Given the description of an element on the screen output the (x, y) to click on. 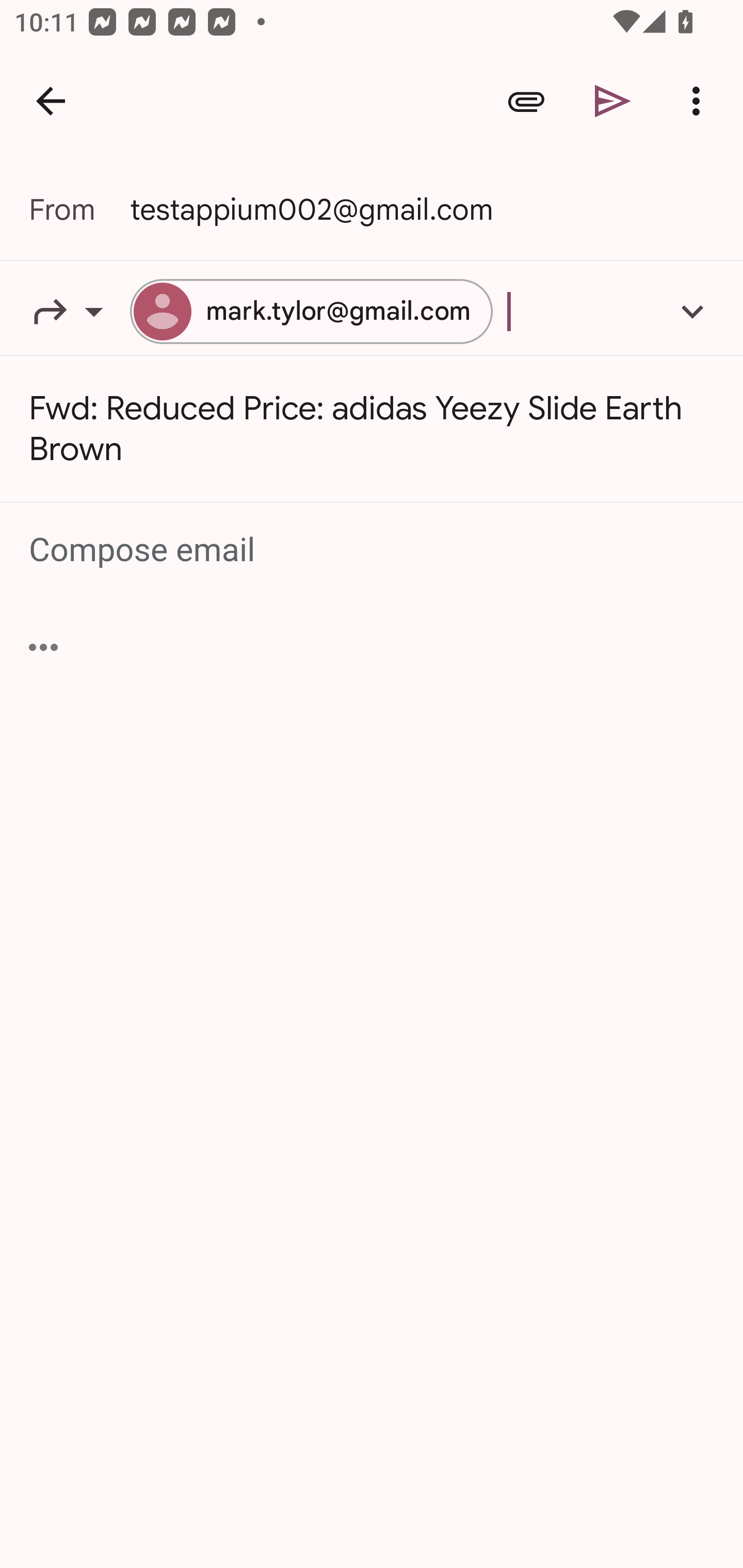
Navigate up (50, 101)
Attach file (525, 101)
Send (612, 101)
More options (699, 101)
From (79, 209)
Forward (79, 311)
Add Cc/Bcc (692, 311)
Fwd: Reduced Price: adidas Yeezy Slide Earth Brown (371, 428)
Compose email (372, 550)
Include quoted text (43, 646)
